Given the description of an element on the screen output the (x, y) to click on. 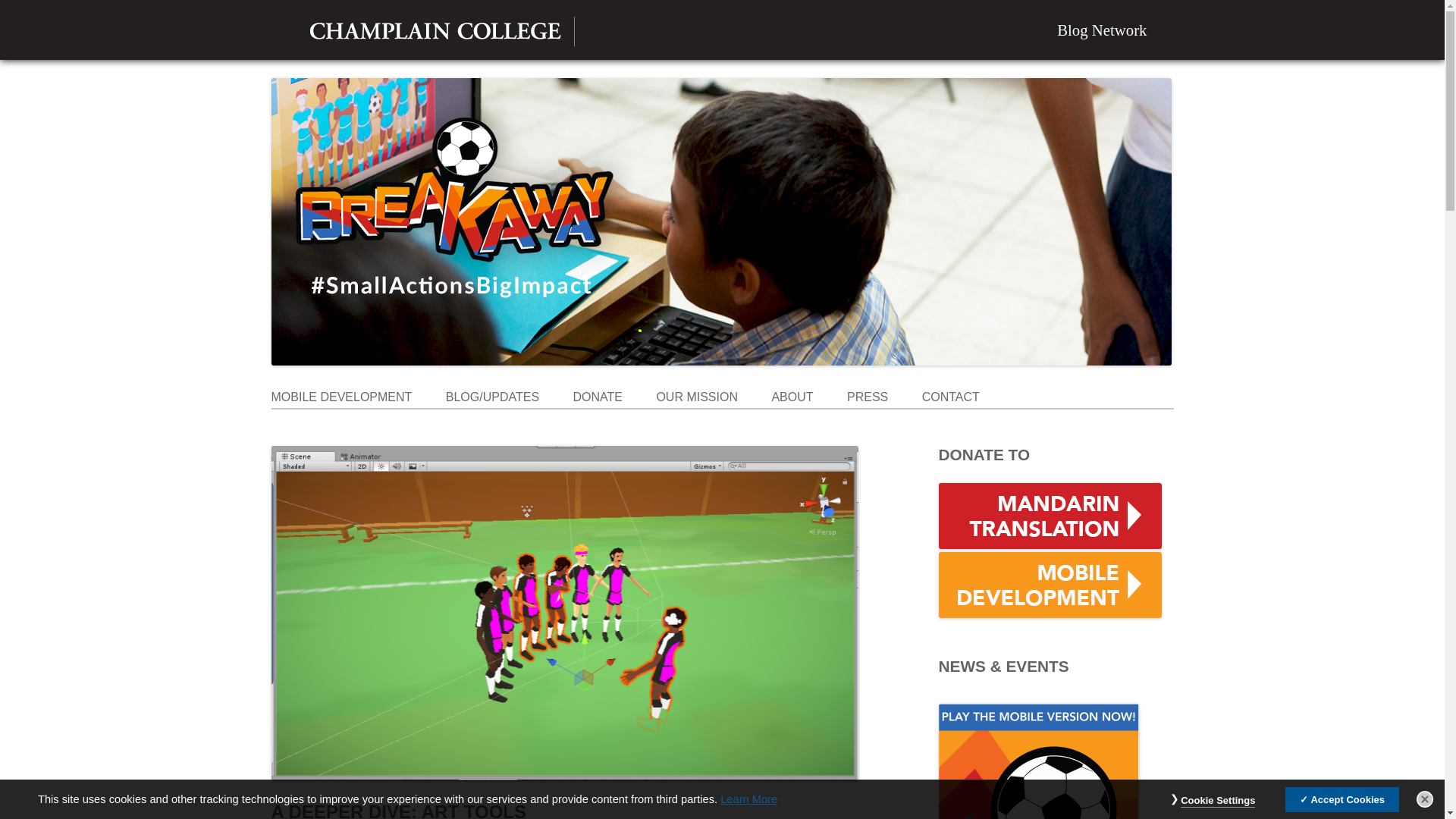
MOBILE DEVELOPMENT (341, 396)
ABOUT (791, 396)
CONTACT (950, 396)
PRESS (867, 396)
BREAKAWAY GAME (387, 399)
Skip to content (762, 391)
Accept Cookies (1342, 799)
Champlain College (434, 30)
Cookie Settings (1217, 800)
Close Cookie Consent Banner (1424, 799)
Accept Cookies (1342, 799)
Cookie Settings (1217, 800)
OUR MISSION (697, 396)
Skip to content (762, 391)
Blog Network (1102, 29)
